Given the description of an element on the screen output the (x, y) to click on. 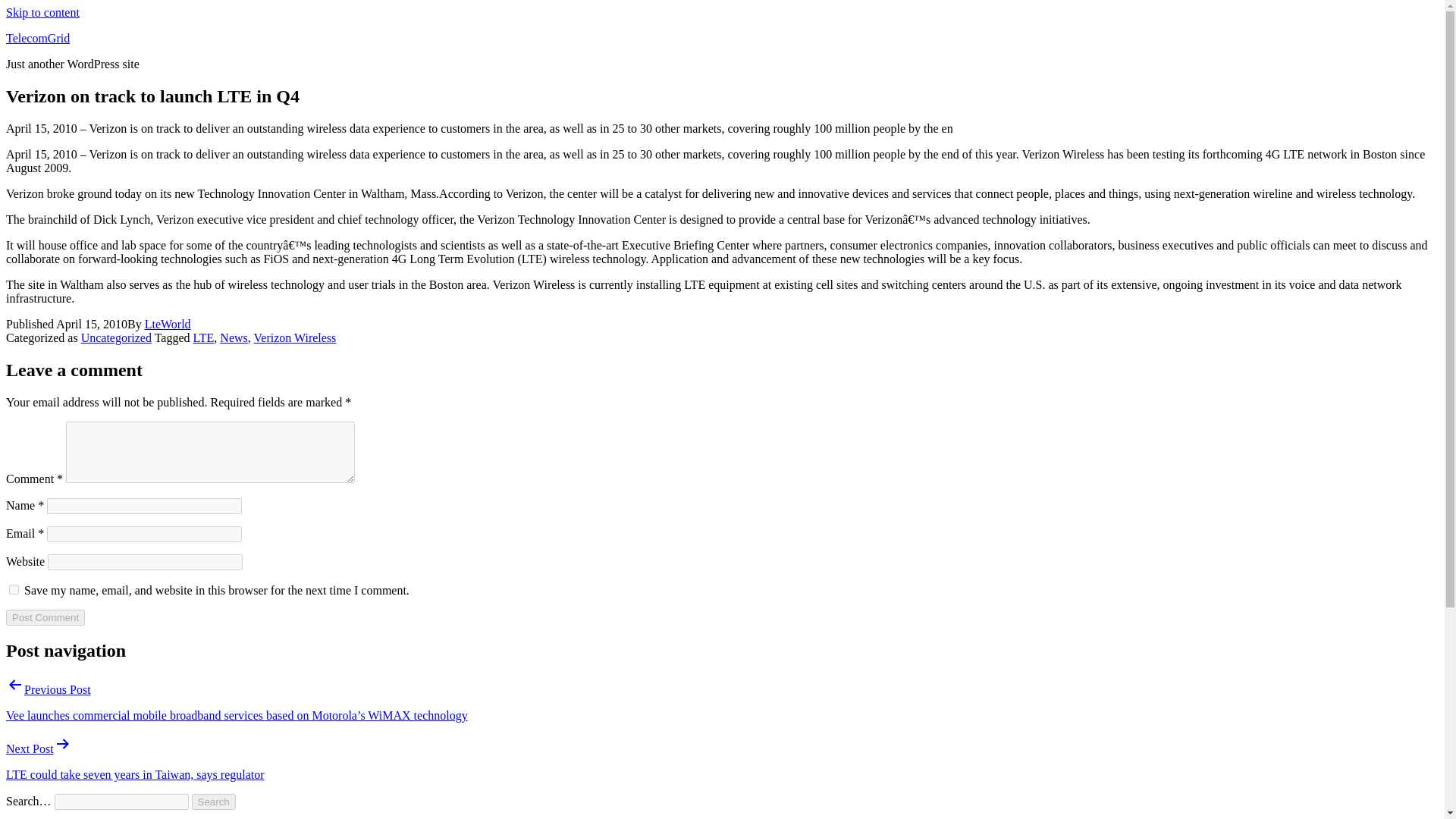
Post Comment (44, 617)
Search (213, 801)
Verizon Wireless (294, 337)
TelecomGrid (37, 38)
Post Comment (44, 617)
yes (13, 589)
Search (213, 801)
LTE (203, 337)
Search (213, 801)
News (233, 337)
LteWorld (167, 323)
Skip to content (42, 11)
Uncategorized (116, 337)
